Given the description of an element on the screen output the (x, y) to click on. 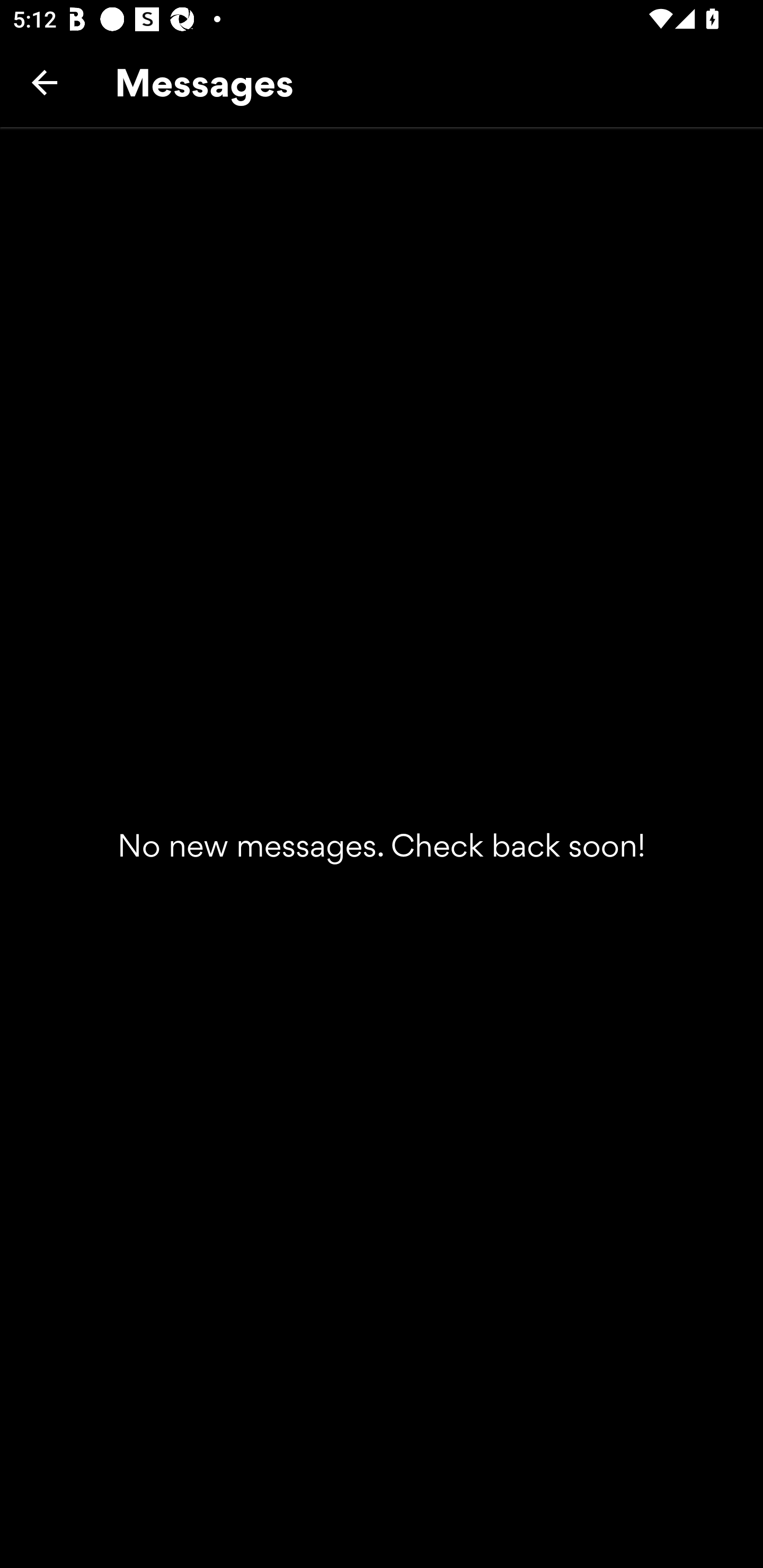
Back (44, 82)
